Given the description of an element on the screen output the (x, y) to click on. 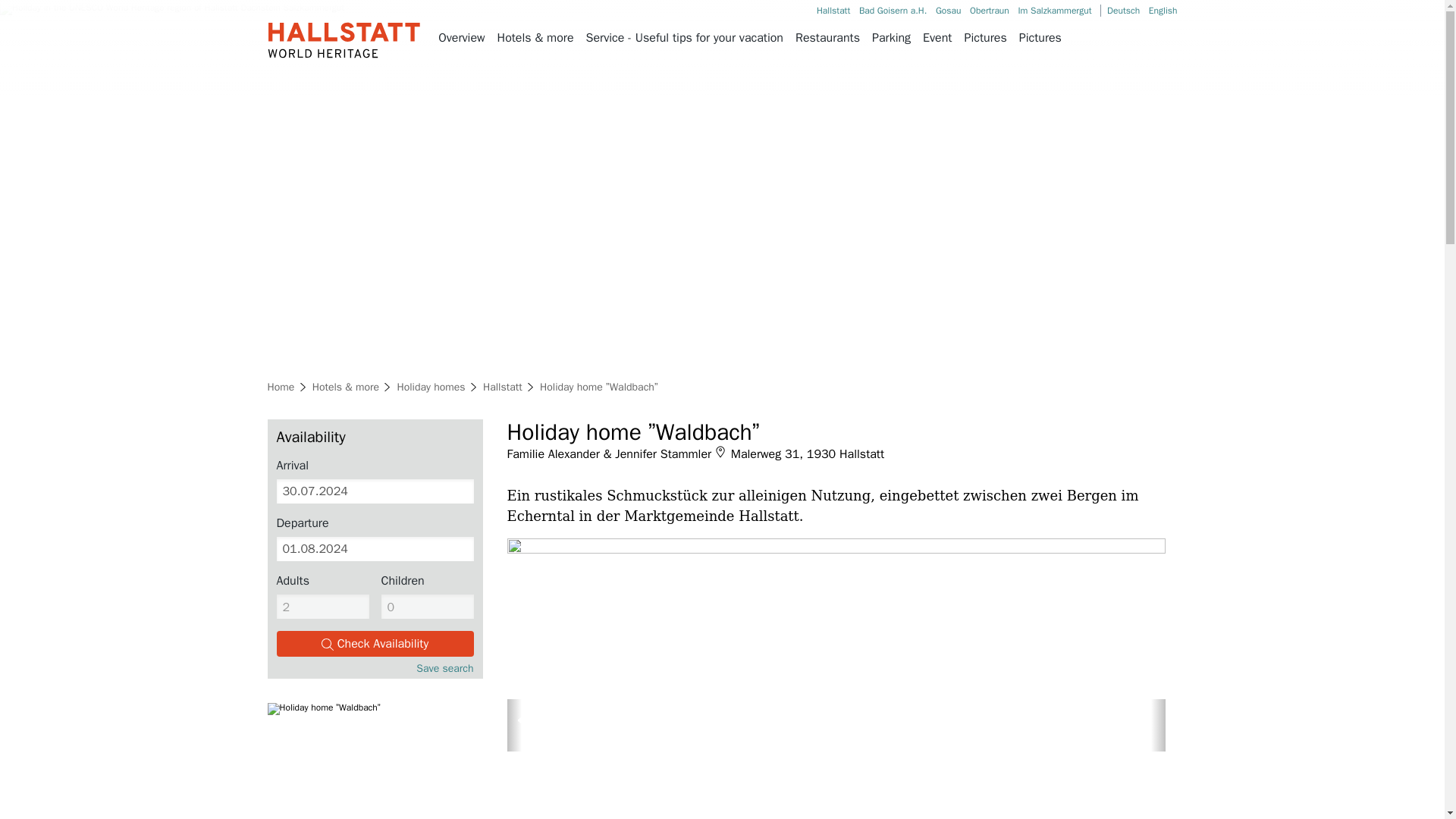
Overview (461, 37)
Zur Seite Parking in Hallstatt (891, 37)
Holiday homes (430, 386)
01.08.2024 (374, 549)
Zur Seite Restaurants (827, 37)
Ferienhaus Waldbach - German (1123, 10)
Zur Seite Pictures (1040, 37)
Deutsch (1123, 10)
Gosau (948, 10)
Service - Useful tips for your vacation (684, 37)
30.07.2024 (374, 491)
Zur Seite Overview (461, 37)
Restaurants (827, 37)
Home (280, 386)
Obertraun (989, 10)
